Given the description of an element on the screen output the (x, y) to click on. 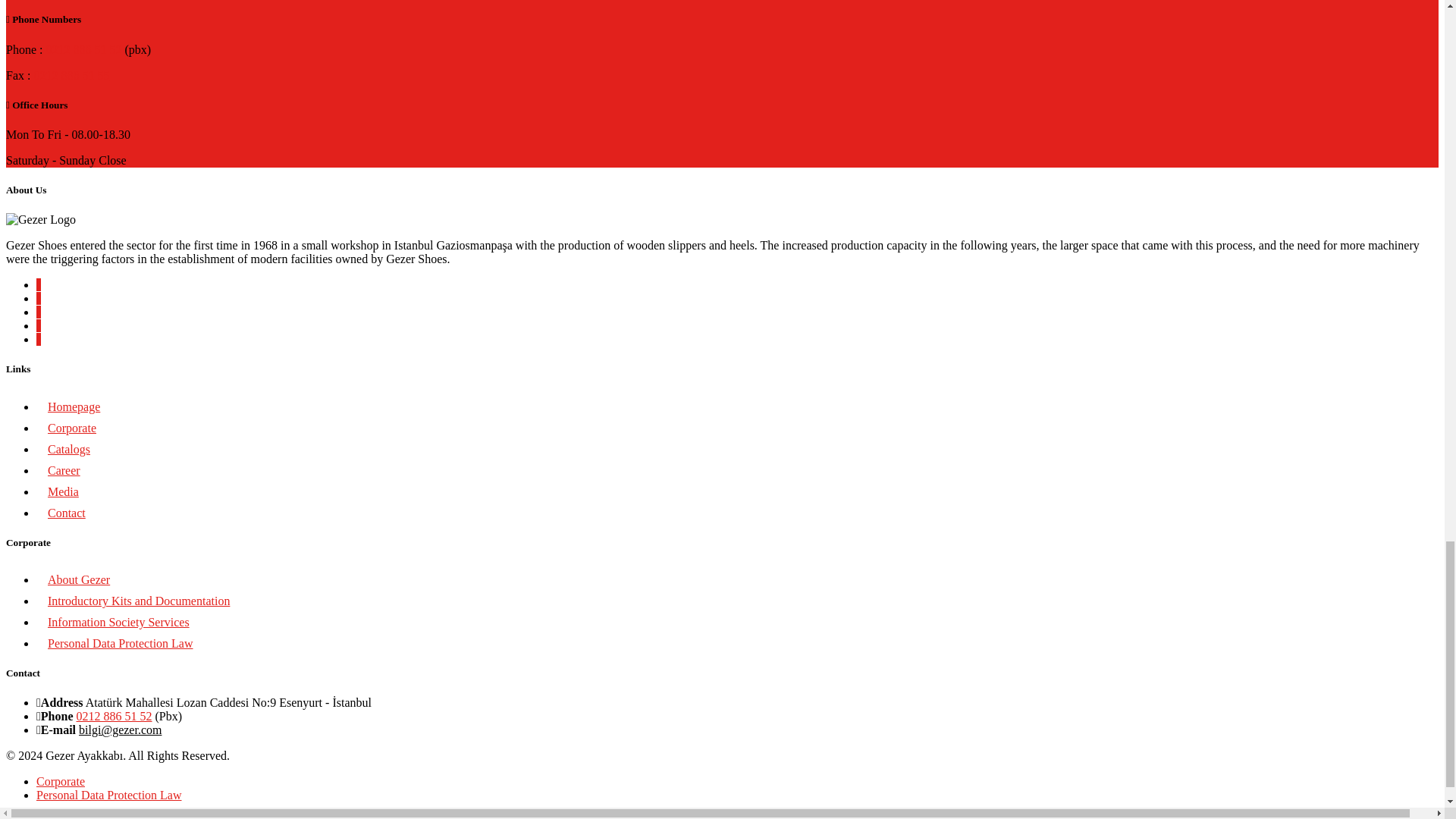
0212 886 51 52 (82, 49)
0212 886 51 55 (71, 74)
